Given the description of an element on the screen output the (x, y) to click on. 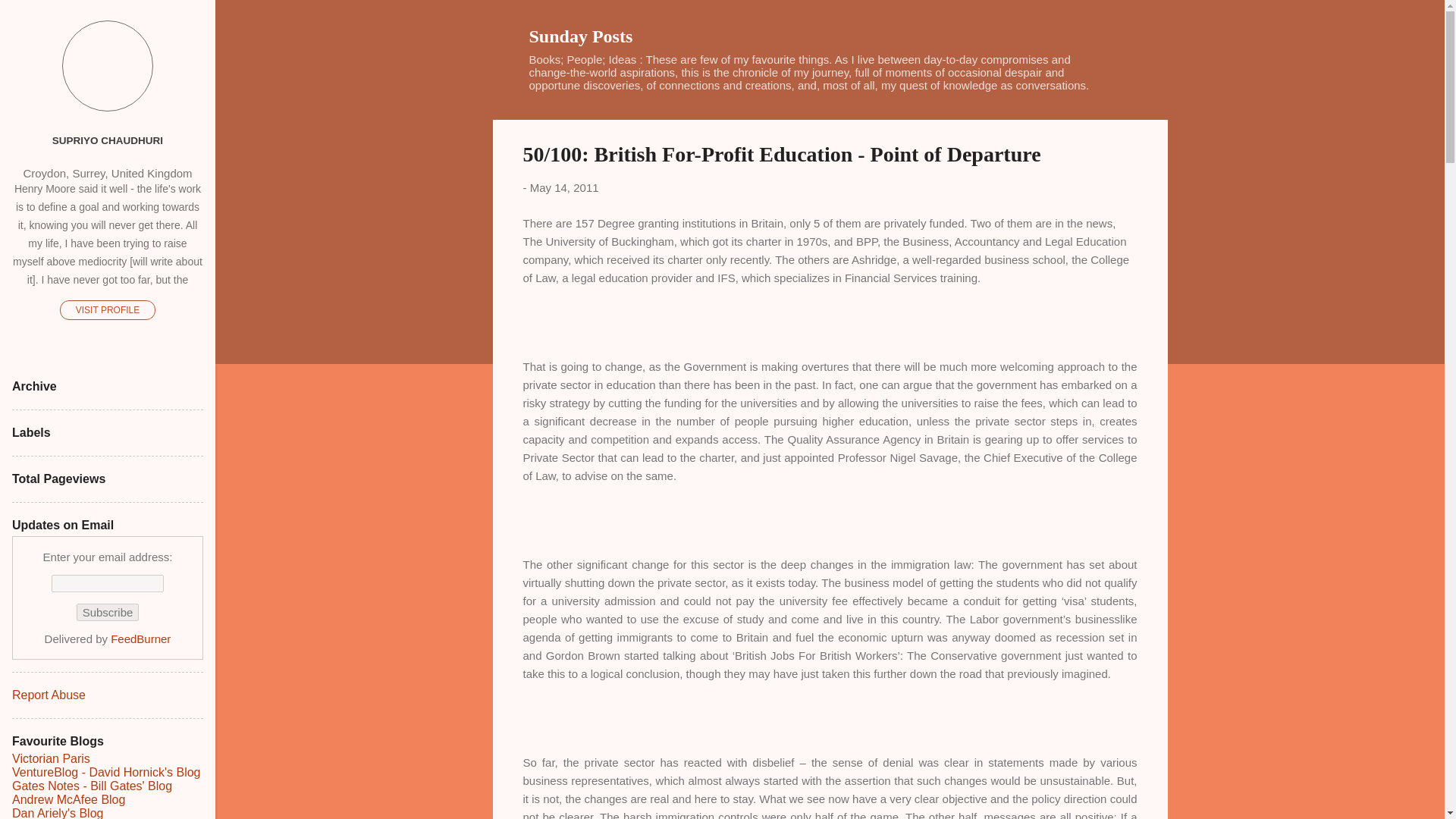
Sunday Posts (581, 35)
permanent link (563, 187)
May 14, 2011 (563, 187)
Subscribe (108, 611)
Search (29, 18)
